Given the description of an element on the screen output the (x, y) to click on. 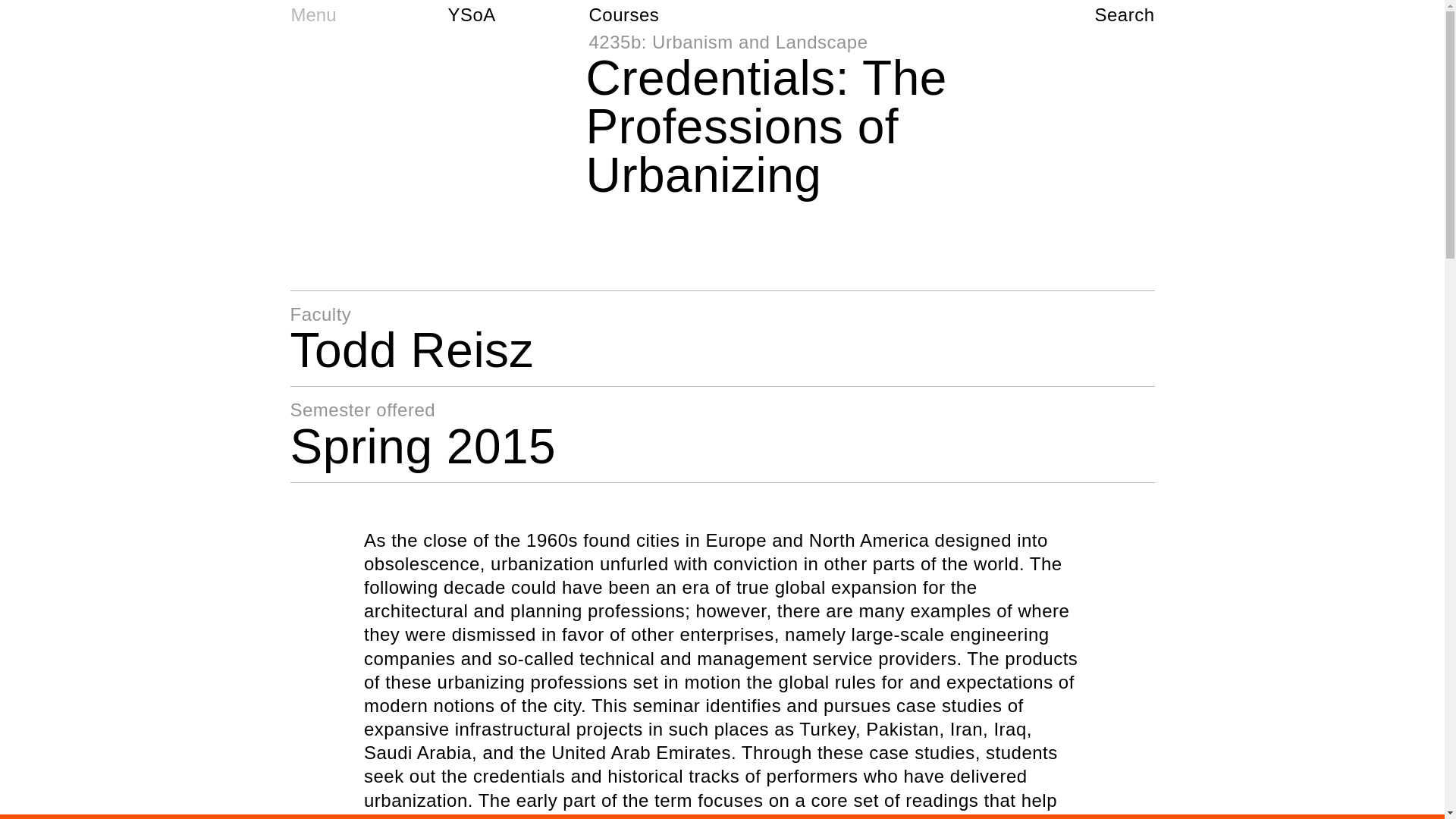
Search (1123, 14)
Courses (624, 14)
Menu (313, 14)
YSoA (471, 14)
